Given the description of an element on the screen output the (x, y) to click on. 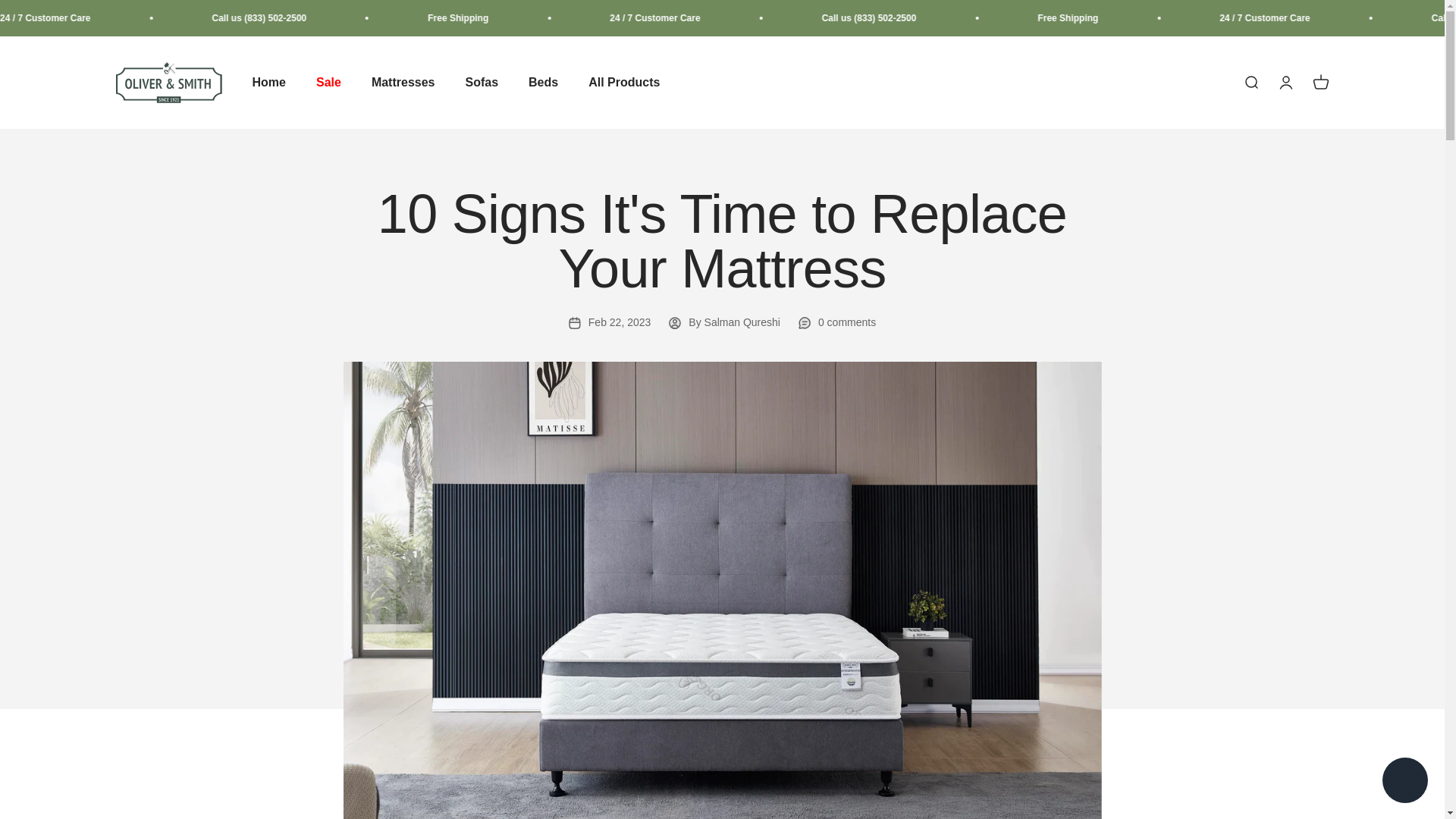
Mattresses (403, 82)
All Products (623, 82)
Shopify online store chat (1404, 781)
Sofas (480, 82)
Beds (542, 82)
0 comments (836, 321)
Open account page (1285, 82)
Open search (1250, 82)
Sale (327, 82)
Home (268, 82)
